Given the description of an element on the screen output the (x, y) to click on. 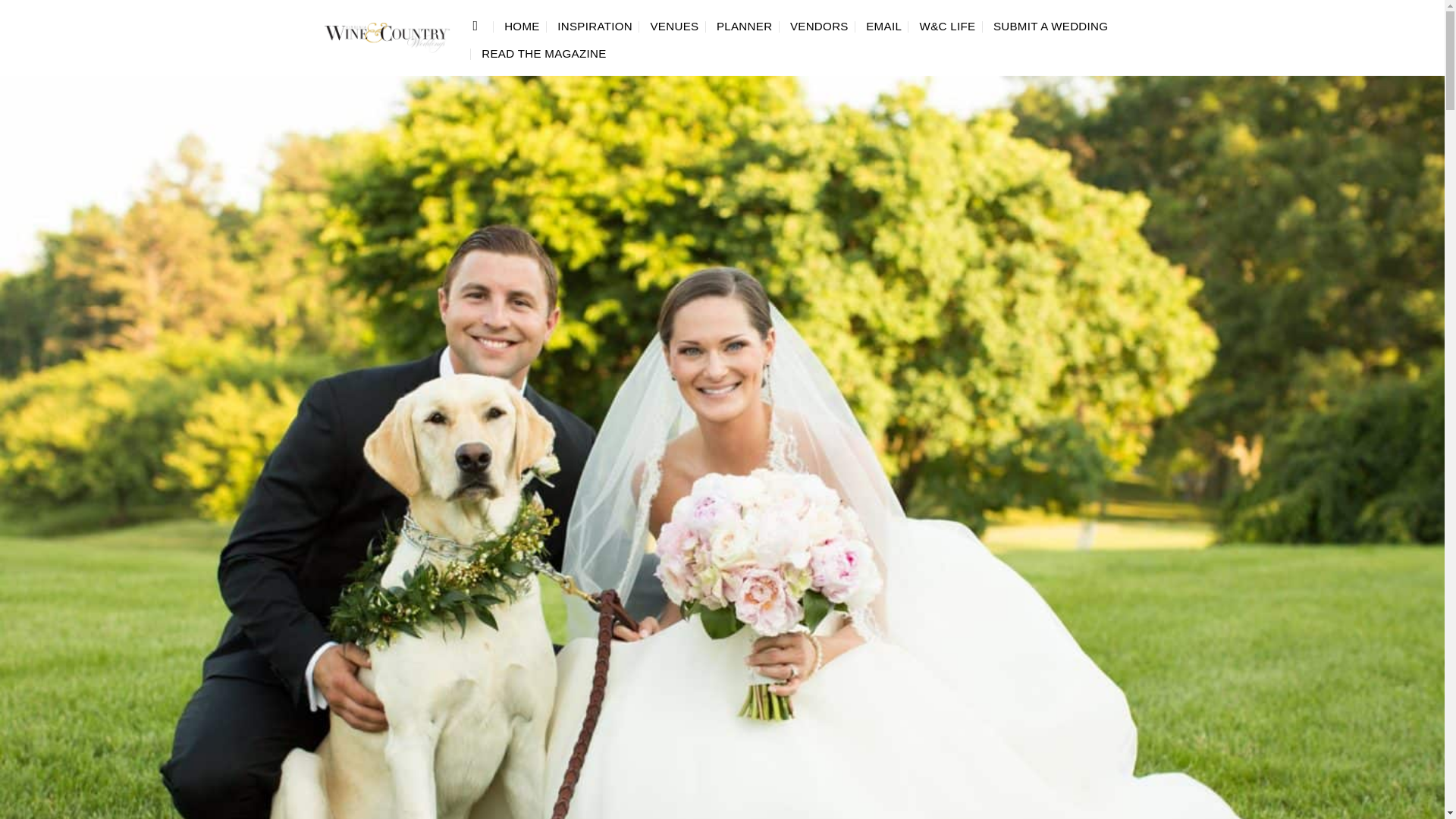
HOME (521, 26)
SUBMIT A WEDDING (1050, 26)
VENDORS (819, 26)
INSPIRATION (594, 26)
READ THE MAGAZINE (543, 53)
EMAIL (883, 26)
PLANNER (744, 26)
VENUES (673, 26)
